Given the description of an element on the screen output the (x, y) to click on. 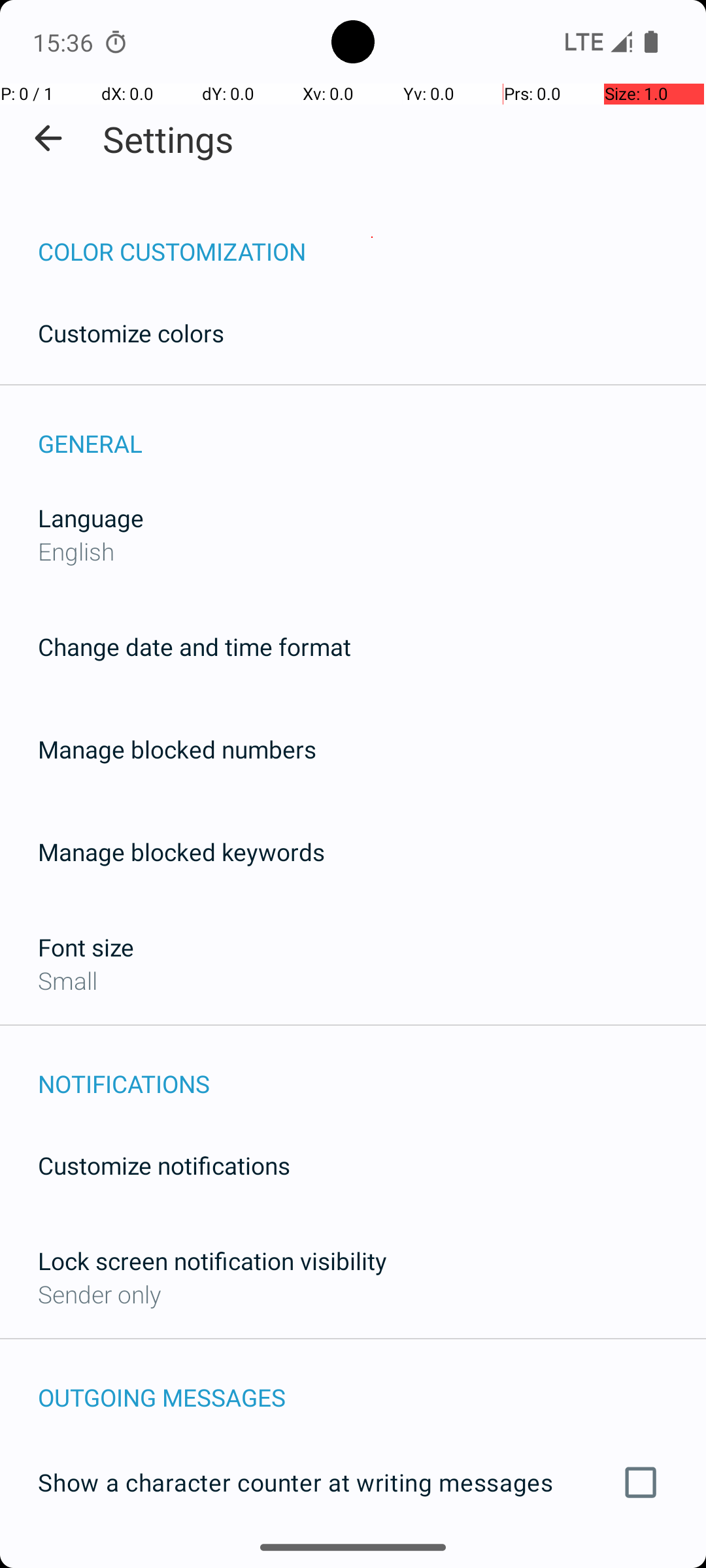
NOTIFICATIONS Element type: android.widget.TextView (371, 1069)
OUTGOING MESSAGES Element type: android.widget.TextView (371, 1383)
Change date and time format Element type: android.widget.TextView (194, 646)
Manage blocked keywords Element type: android.widget.TextView (180, 851)
Font size Element type: android.widget.TextView (85, 946)
Small Element type: android.widget.TextView (67, 979)
Lock screen notification visibility Element type: android.widget.TextView (211, 1260)
Sender only Element type: android.widget.TextView (99, 1293)
Show a character counter at writing messages Element type: android.widget.CheckBox (352, 1482)
Remove accents and diacritics at sending messages Element type: android.widget.CheckBox (352, 1559)
